Given the description of an element on the screen output the (x, y) to click on. 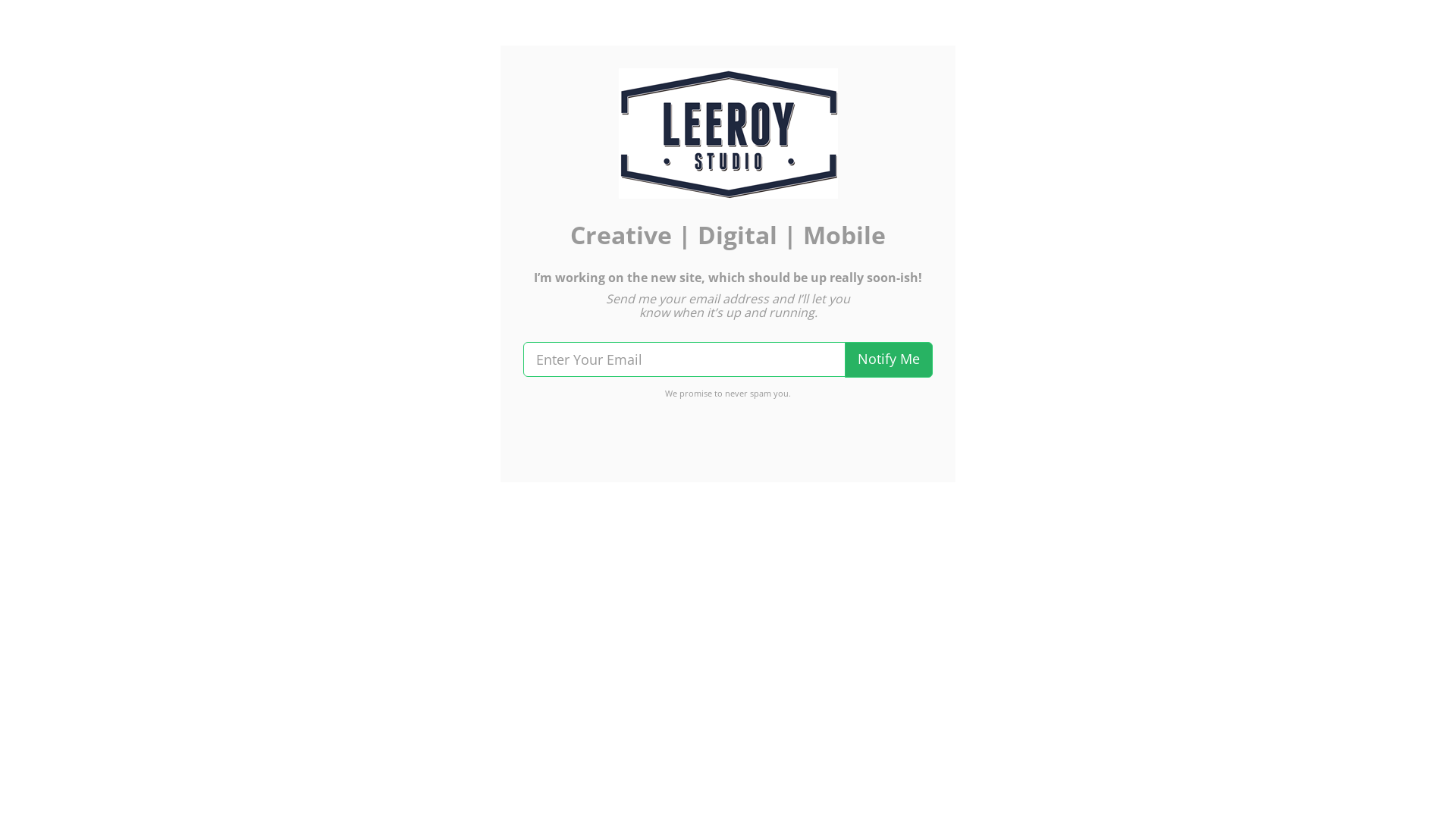
Notify Me Element type: text (888, 359)
